Given the description of an element on the screen output the (x, y) to click on. 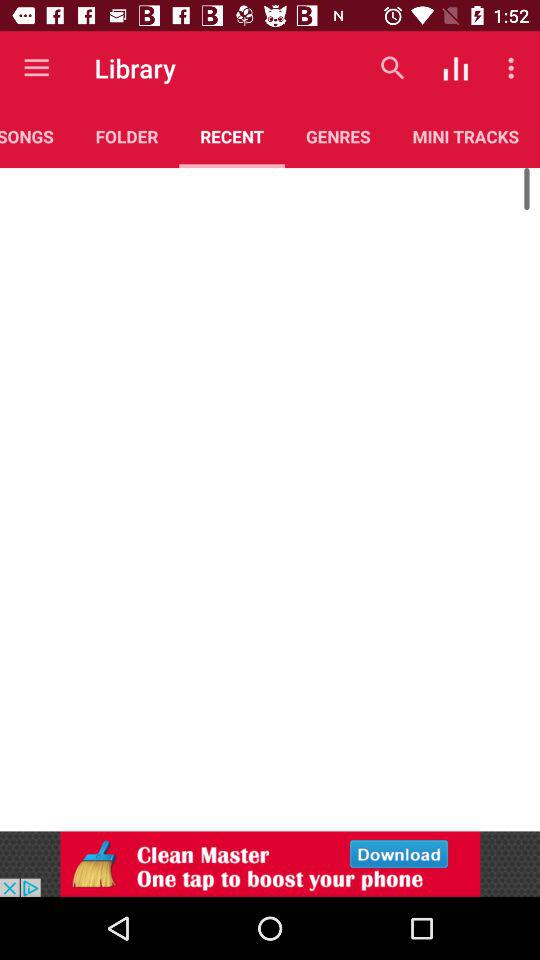
go to advertisement website (270, 864)
